Given the description of an element on the screen output the (x, y) to click on. 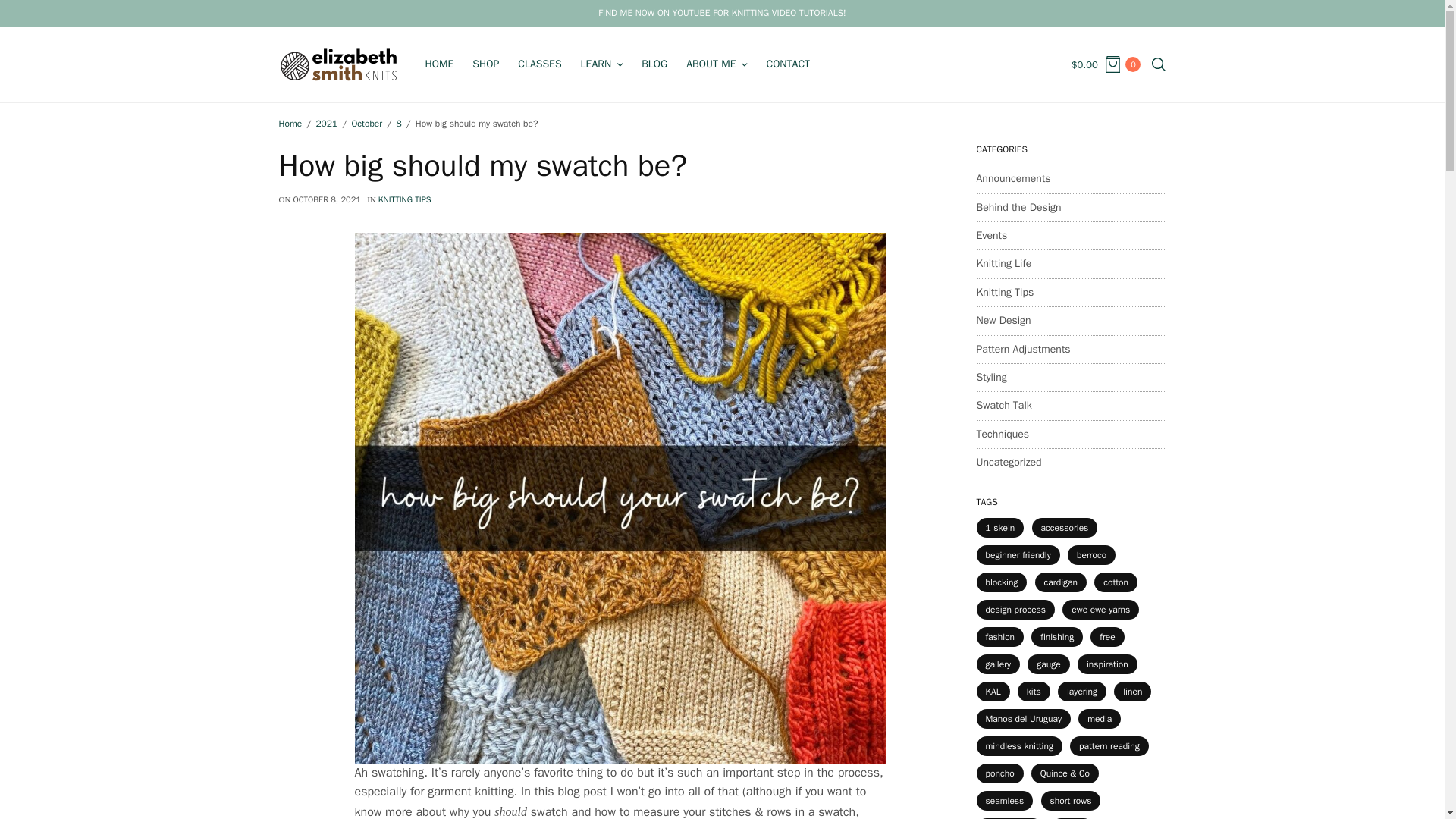
October (365, 124)
Styling (991, 377)
Elizabeth Smith Knits (338, 64)
LEARN (601, 64)
2021 (326, 124)
Behind the Design (1018, 207)
Home (290, 124)
Knitting Tips (1004, 292)
CONTACT (787, 64)
Knitting Life (1004, 263)
KNITTING TIPS (404, 199)
Events (991, 235)
Pattern Adjustments (1023, 349)
CLASSES (539, 64)
New Design (1003, 320)
